Given the description of an element on the screen output the (x, y) to click on. 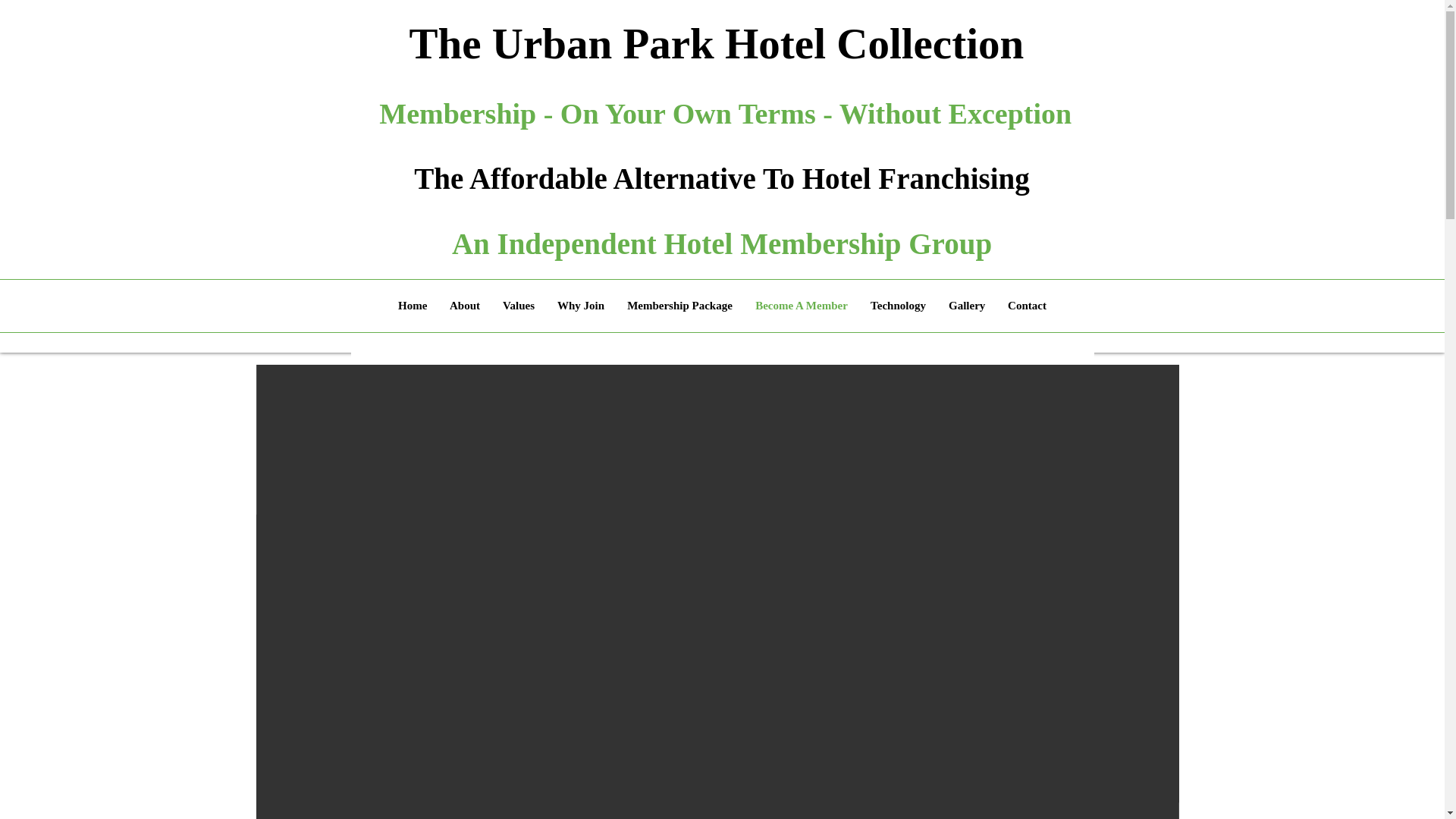
Contact (1026, 306)
Become A Member (801, 306)
Home (412, 306)
Technology (898, 306)
Why Join (580, 306)
About (465, 306)
Gallery (966, 306)
Values (519, 306)
Membership Package (679, 306)
